Given the description of an element on the screen output the (x, y) to click on. 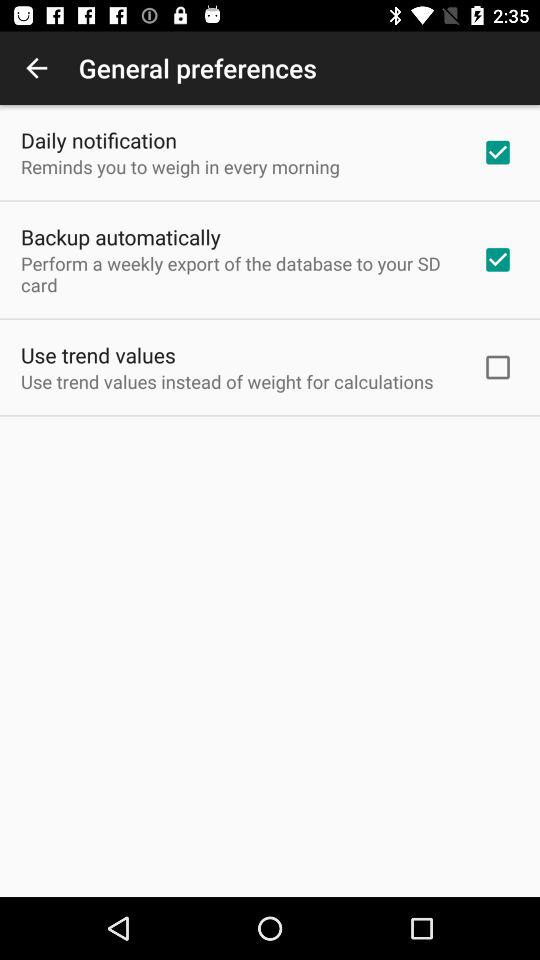
press the item above the backup automatically app (180, 166)
